Given the description of an element on the screen output the (x, y) to click on. 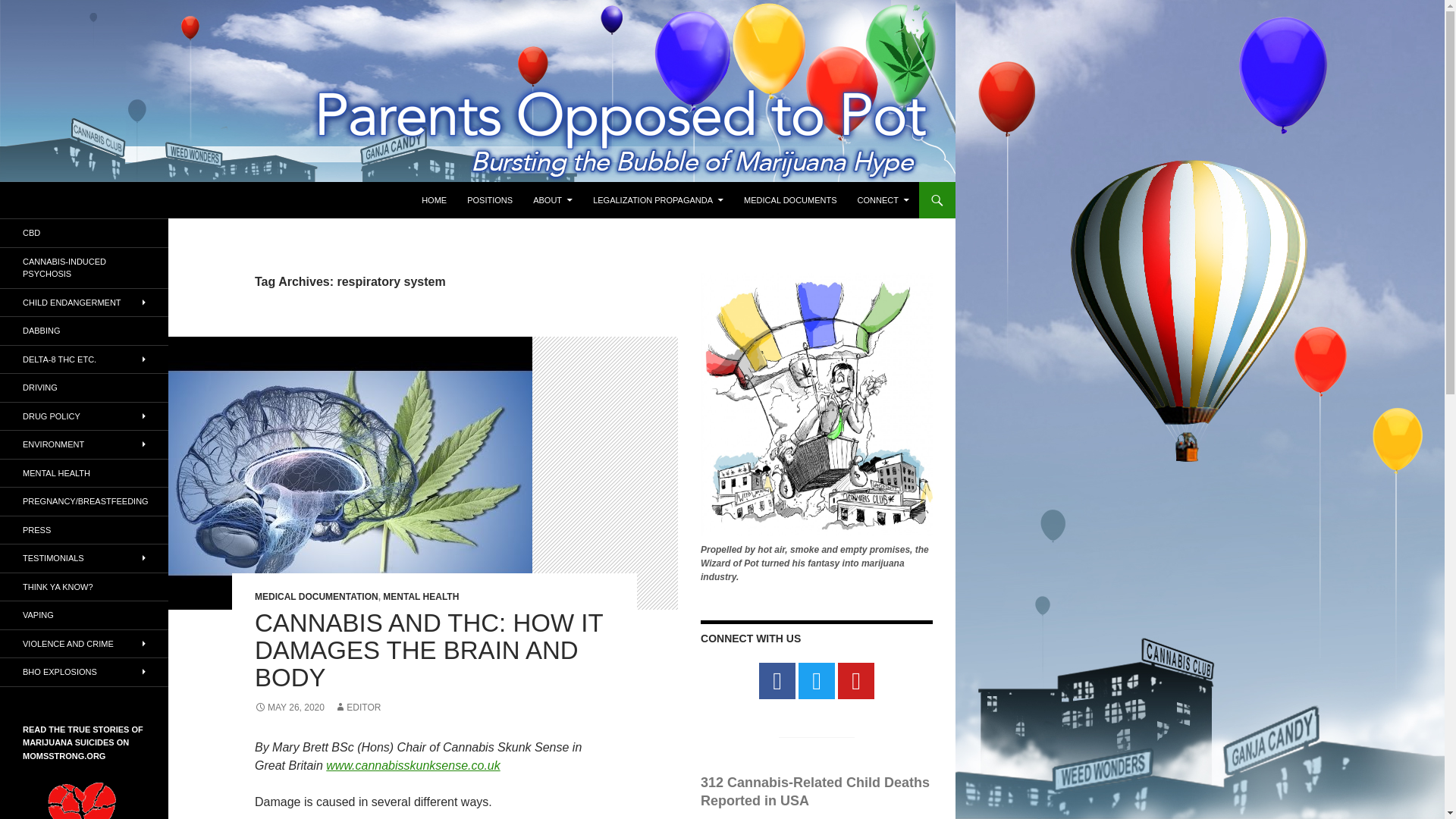
twitter (815, 680)
Is it Green? (84, 444)
MEDICAL DOCUMENTATION (316, 596)
Parents Opposed to Pot (100, 199)
CANNABIS AND THC: HOW IT DAMAGES THE BRAIN AND BODY (428, 650)
MEDICAL DOCUMENTS (790, 199)
POSITIONS (489, 199)
HOME (433, 199)
youtube (856, 680)
MAY 26, 2020 (289, 706)
MENTAL HEALTH (420, 596)
LEGALIZATION PROPAGANDA (657, 199)
EDITOR (357, 706)
www.cannabisskunksense.co.uk (412, 765)
